Given the description of an element on the screen output the (x, y) to click on. 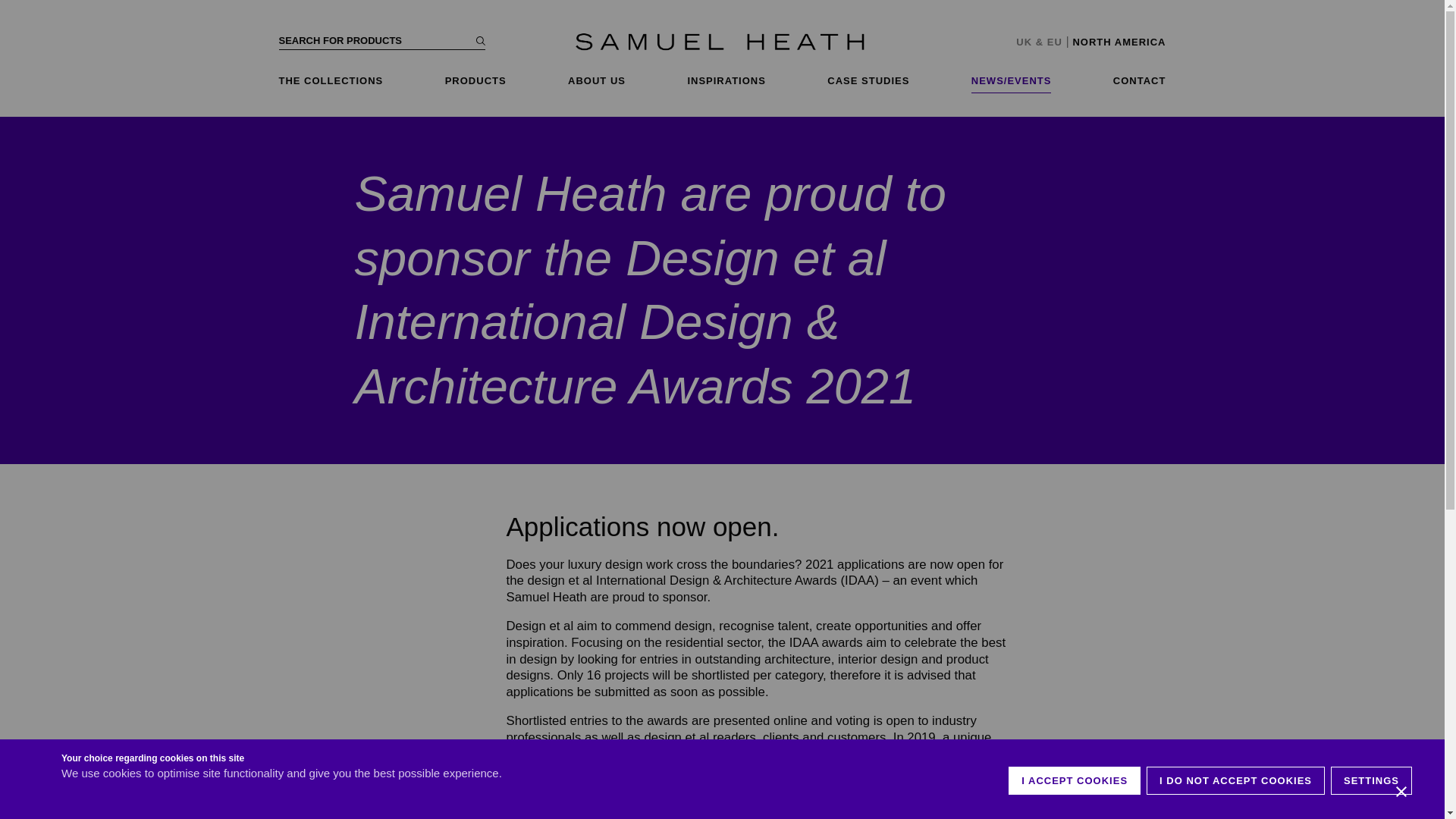
Europe (1054, 41)
SETTINGS (1371, 779)
I DO NOT ACCEPT COOKIES (1235, 779)
United Kingdom (1024, 41)
I ACCEPT COOKIES (1074, 779)
North American website (1118, 41)
